Given the description of an element on the screen output the (x, y) to click on. 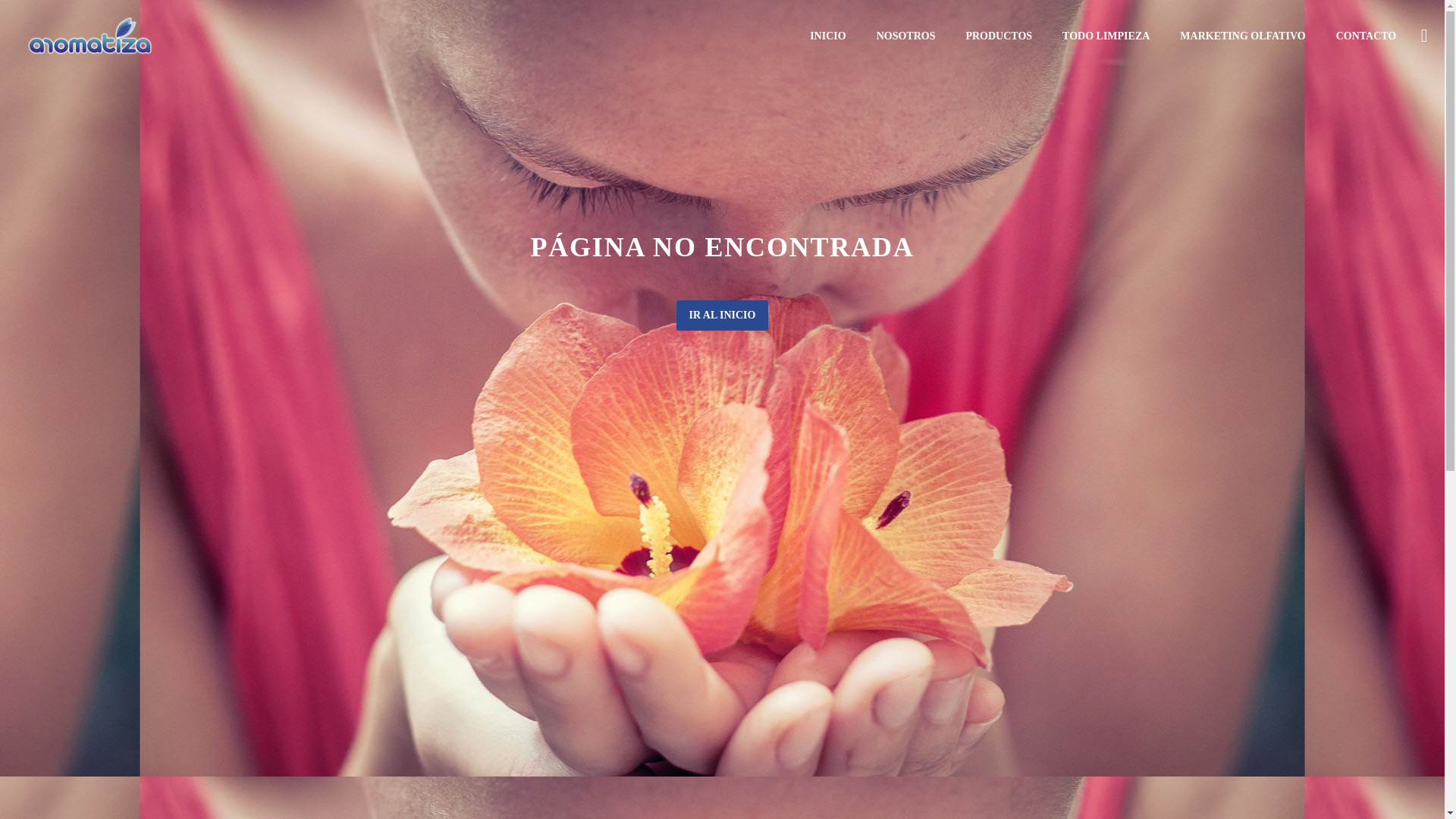
IR AL INICIO (722, 315)
PRODUCTOS (998, 36)
NOSOTROS (905, 36)
CONTACTO (1366, 36)
TODO LIMPIEZA (1105, 36)
INICIO (827, 36)
MARKETING OLFATIVO (1242, 36)
